Given the description of an element on the screen output the (x, y) to click on. 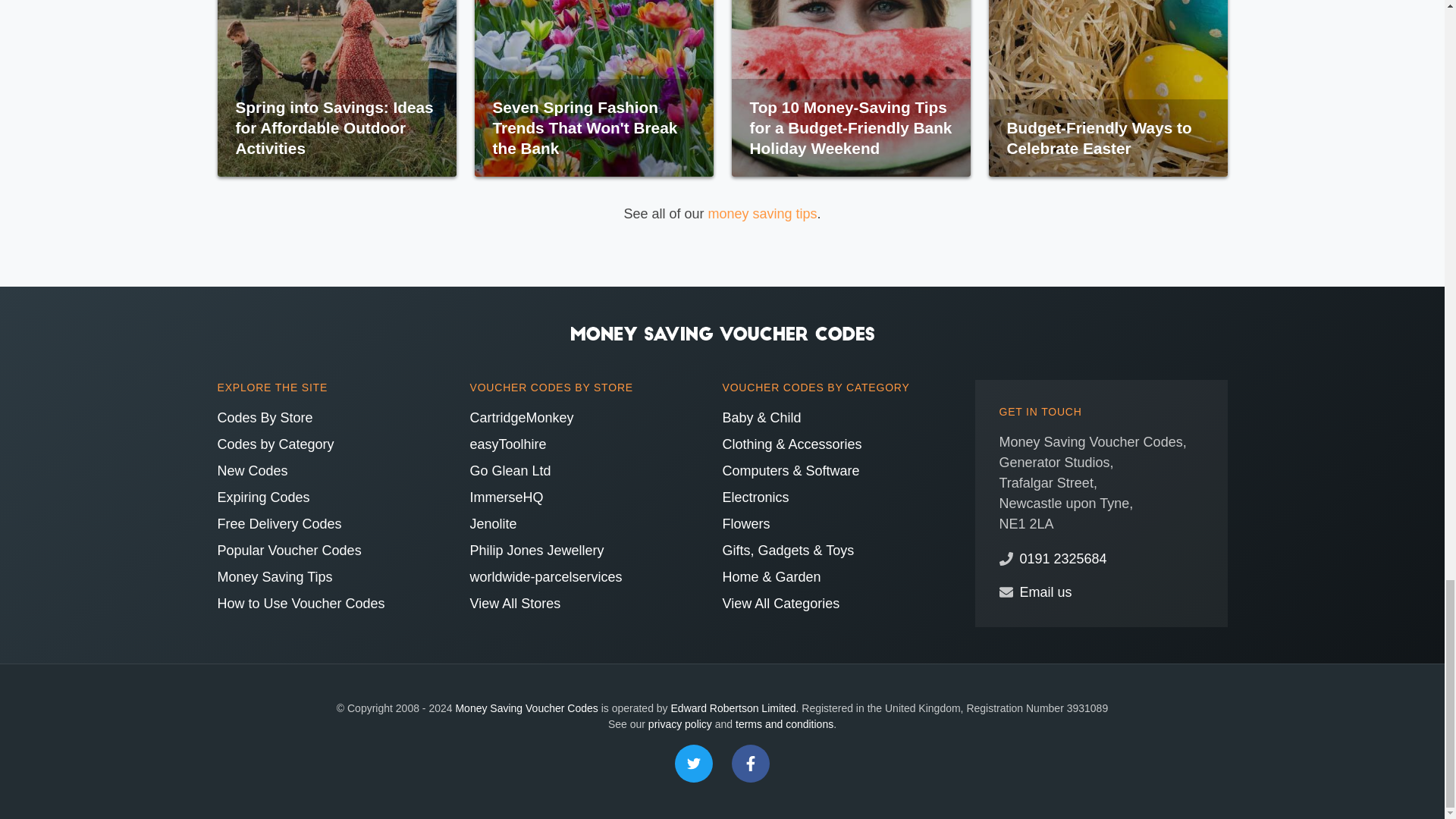
Visit our Homepage (721, 332)
Visit our Facebook (751, 763)
Visit our Twitter (694, 763)
